Given the description of an element on the screen output the (x, y) to click on. 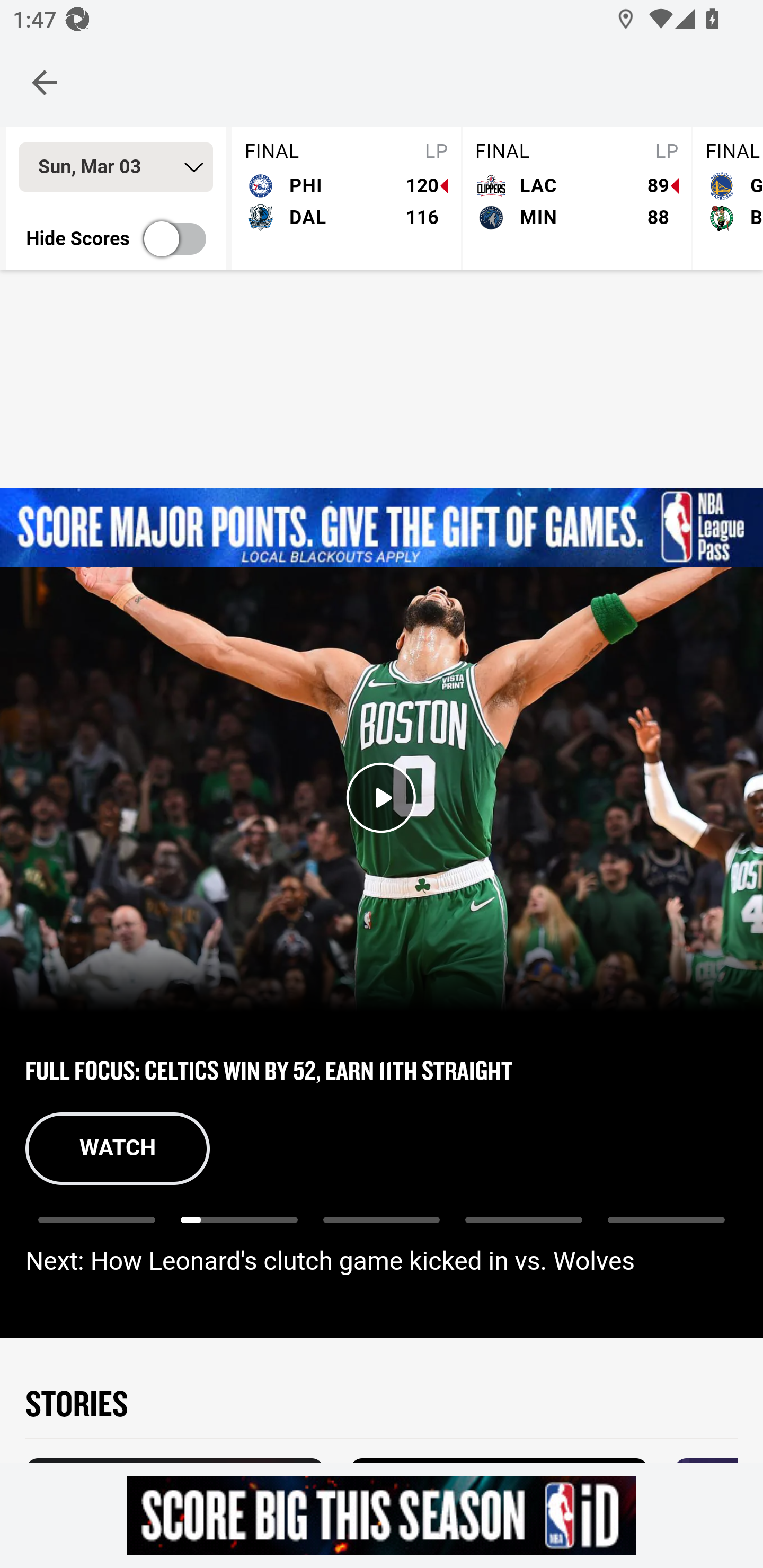
Navigate up (44, 82)
Sun, Mar 03 (115, 166)
Tune In Banner (381, 527)
Event Icon (381, 798)
WATCH (118, 1148)
Link For Wemby Watch: Kia ROY race heats up & more (665, 1229)
